Given the description of an element on the screen output the (x, y) to click on. 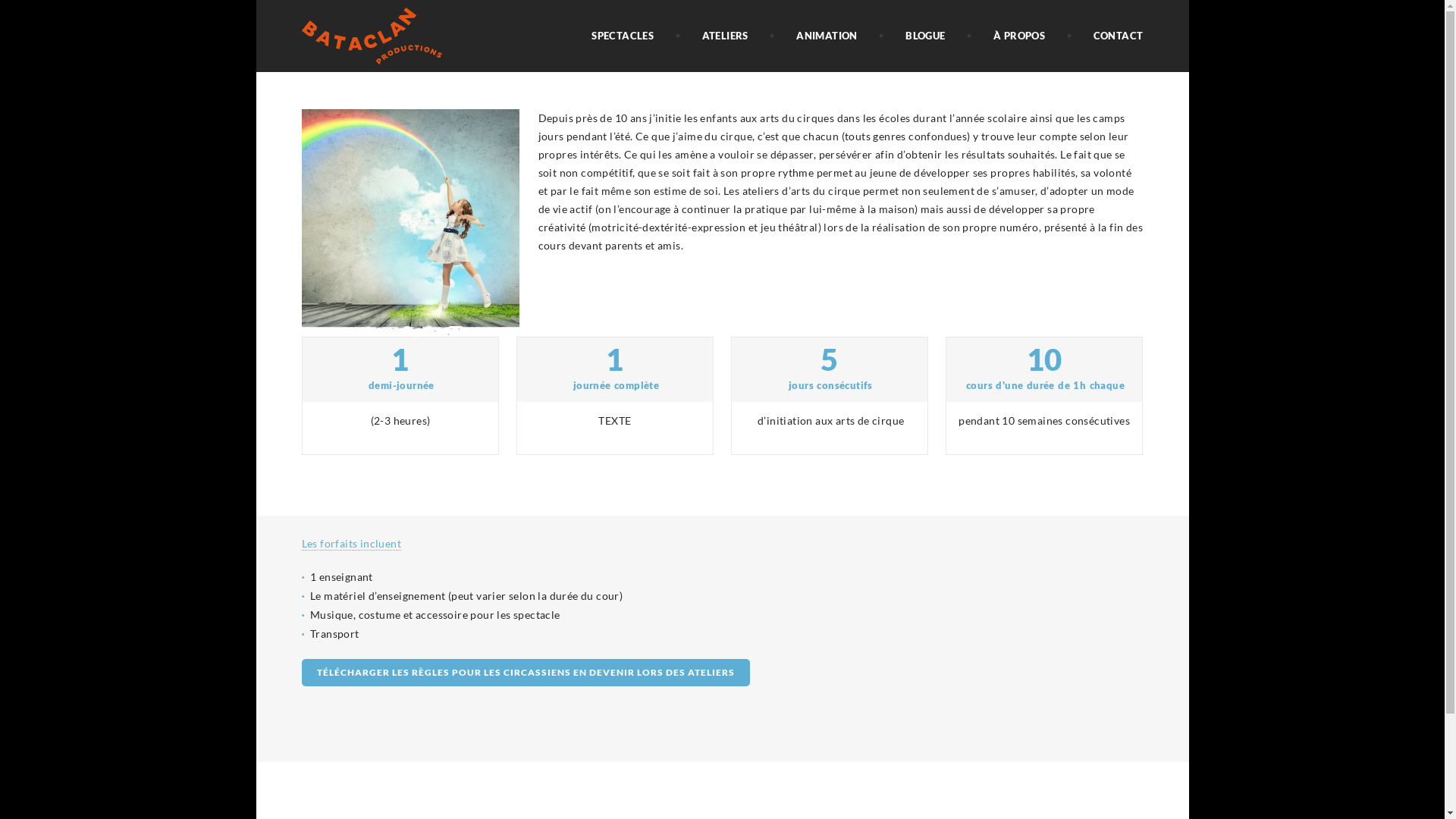
CONTACT Element type: text (1118, 35)
ANIMATION Element type: text (826, 35)
SPECTACLES Element type: text (622, 35)
ATELIERS Element type: text (725, 35)
BLOGUE Element type: text (924, 35)
